Given the description of an element on the screen output the (x, y) to click on. 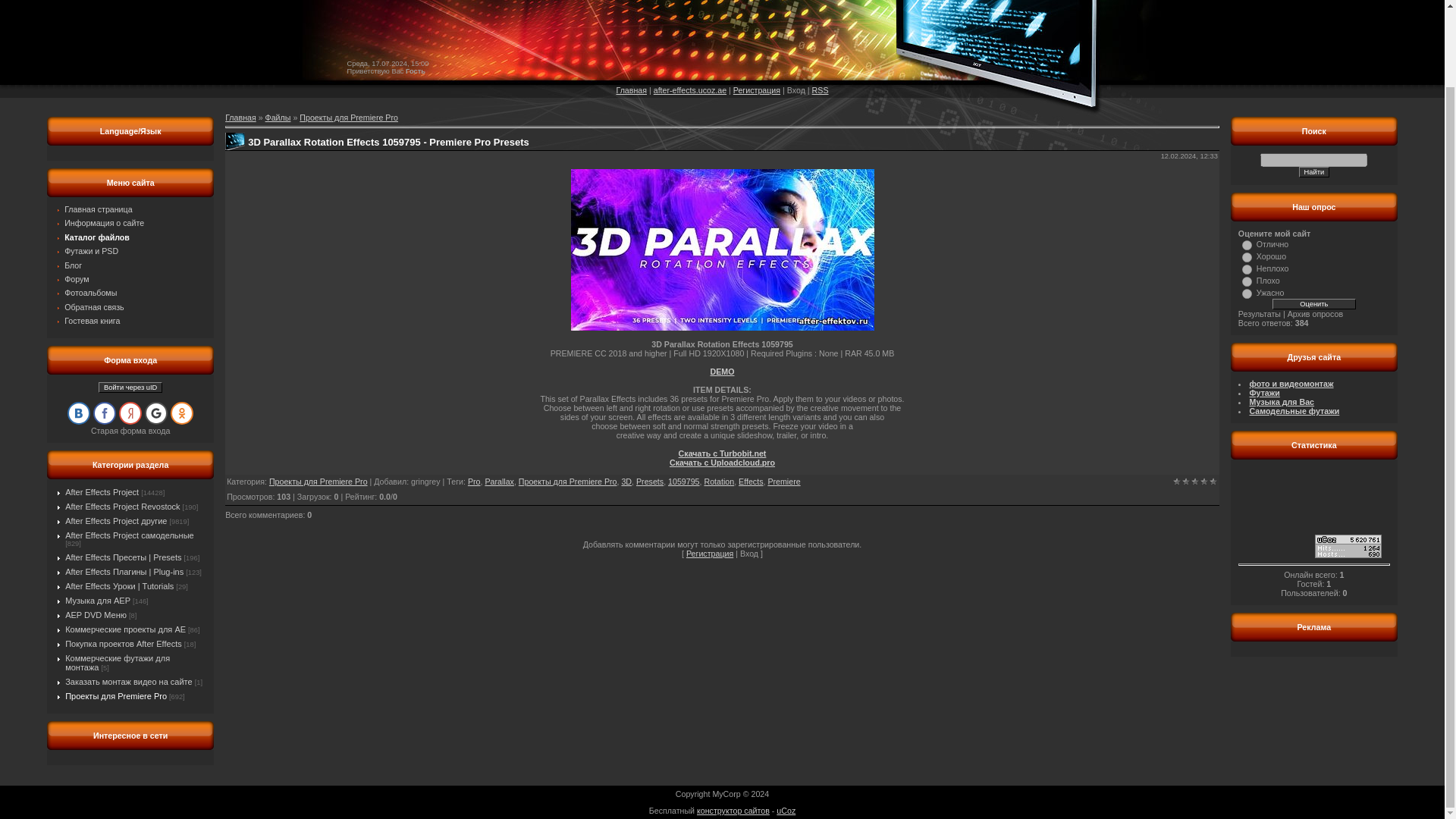
1 (1246, 245)
after-effects.ucoz.ae (689, 90)
uCoz Counter (1347, 554)
RSS (820, 90)
2 (1246, 257)
gringrey (425, 481)
Rotation (718, 481)
DEMO (722, 370)
3D (626, 481)
4 (1246, 281)
4 (1203, 481)
1059795 (684, 481)
Presets (649, 481)
Premiere (783, 481)
2 (1185, 481)
